Given the description of an element on the screen output the (x, y) to click on. 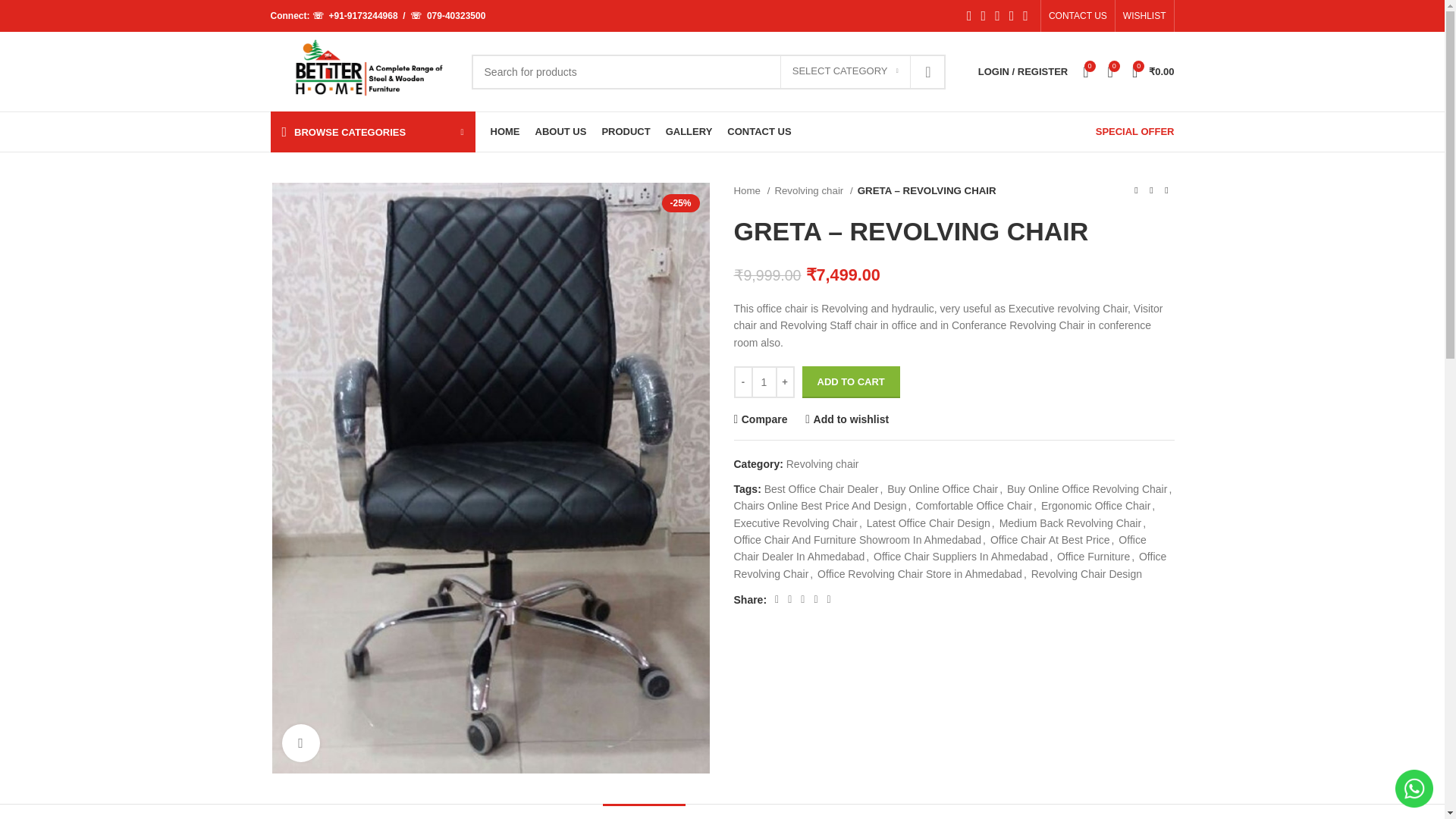
SELECT CATEGORY (845, 71)
WISHLIST (1144, 15)
Search for products (707, 71)
SEARCH (927, 71)
My account (1019, 71)
Shopping cart (1153, 71)
CONTACT US (1077, 15)
SELECT CATEGORY (845, 71)
